Given the description of an element on the screen output the (x, y) to click on. 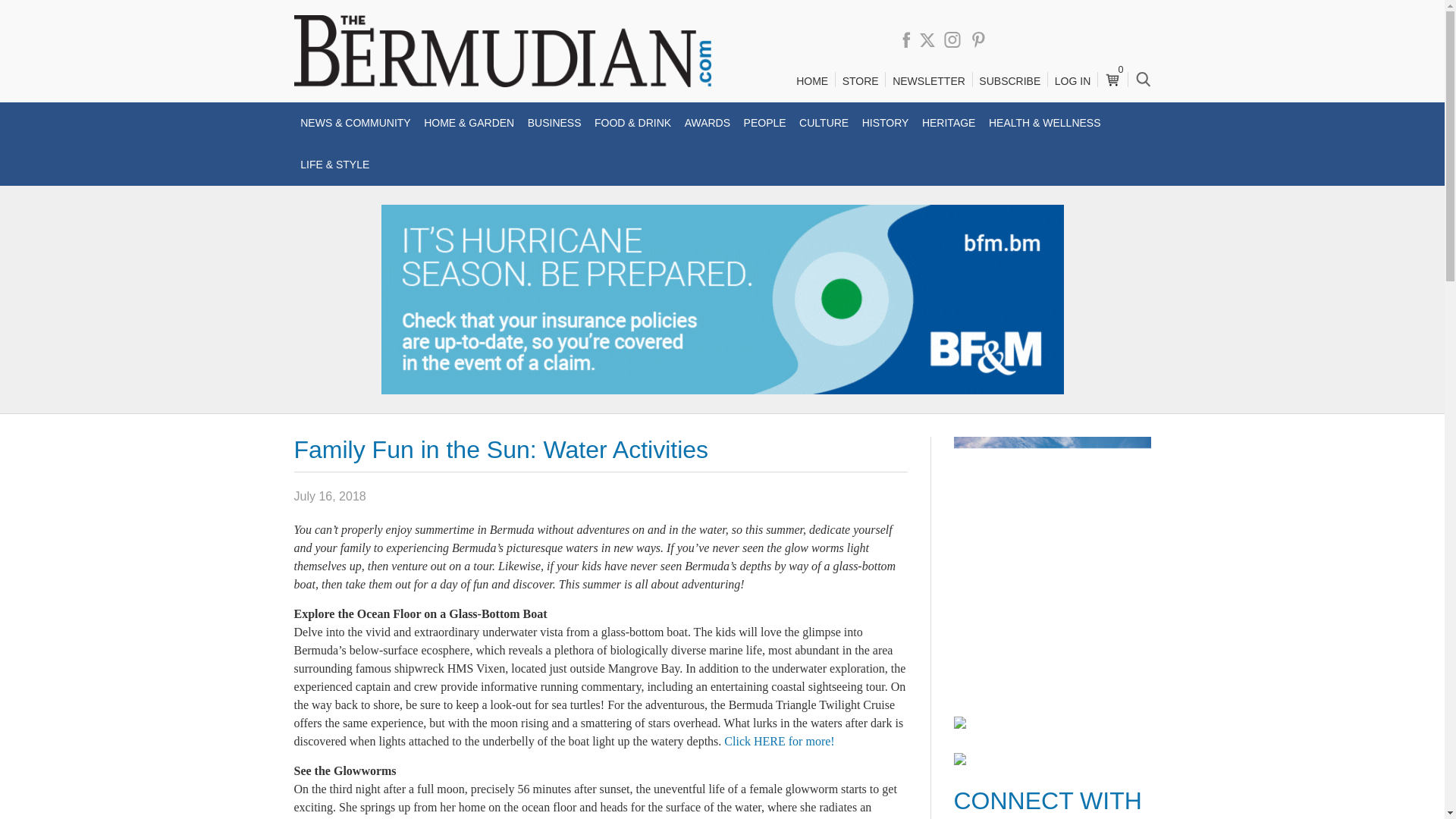
HISTORY (885, 123)
AWARDS (707, 123)
PEOPLE (764, 123)
Click HERE for more! (778, 740)
0 (1111, 75)
STORE (860, 81)
SUBSCRIBE (1009, 81)
BUSINESS (554, 123)
CULTURE (824, 123)
HERITAGE (948, 123)
